Given the description of an element on the screen output the (x, y) to click on. 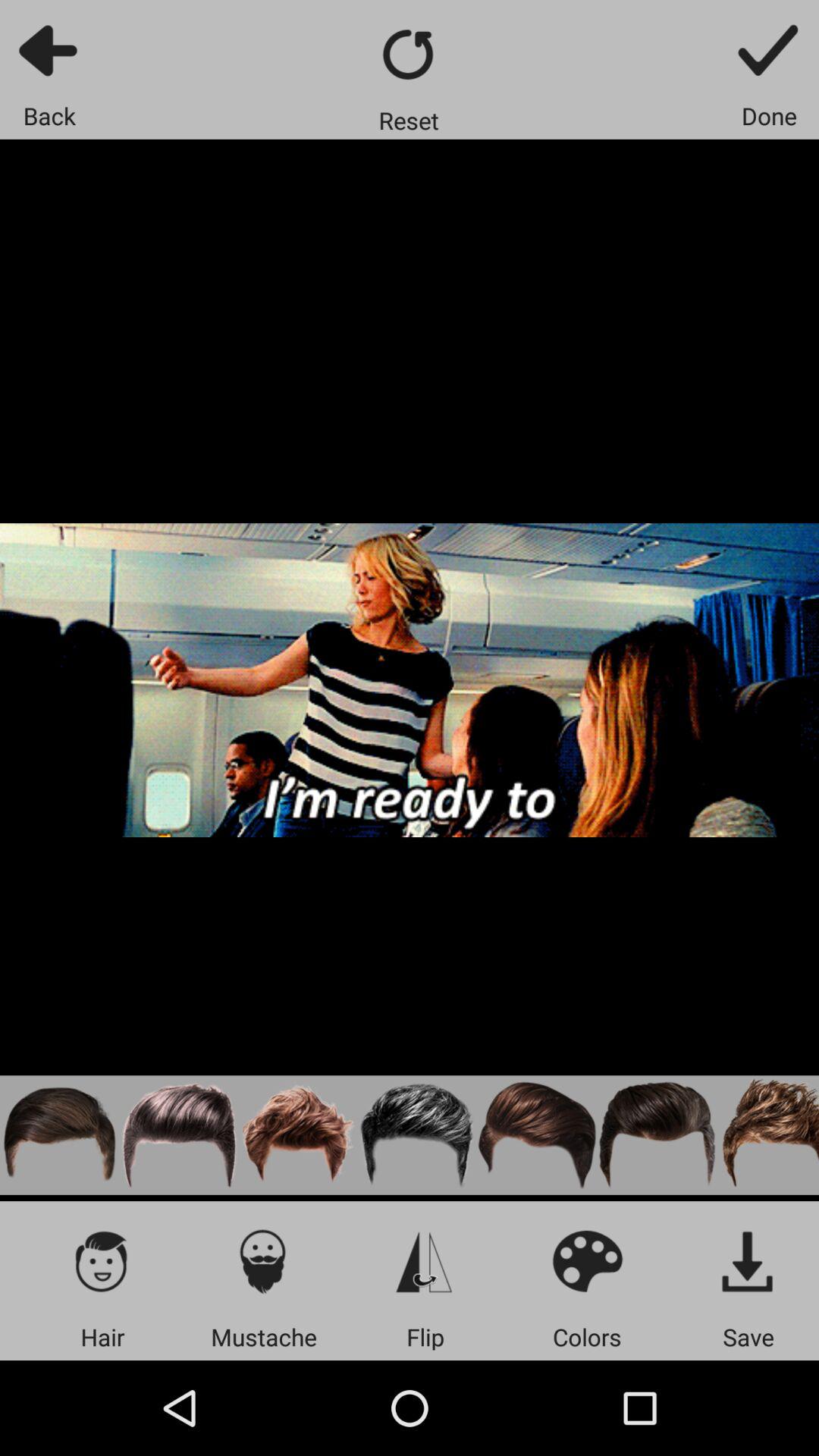
open the item above the save app (748, 1260)
